Given the description of an element on the screen output the (x, y) to click on. 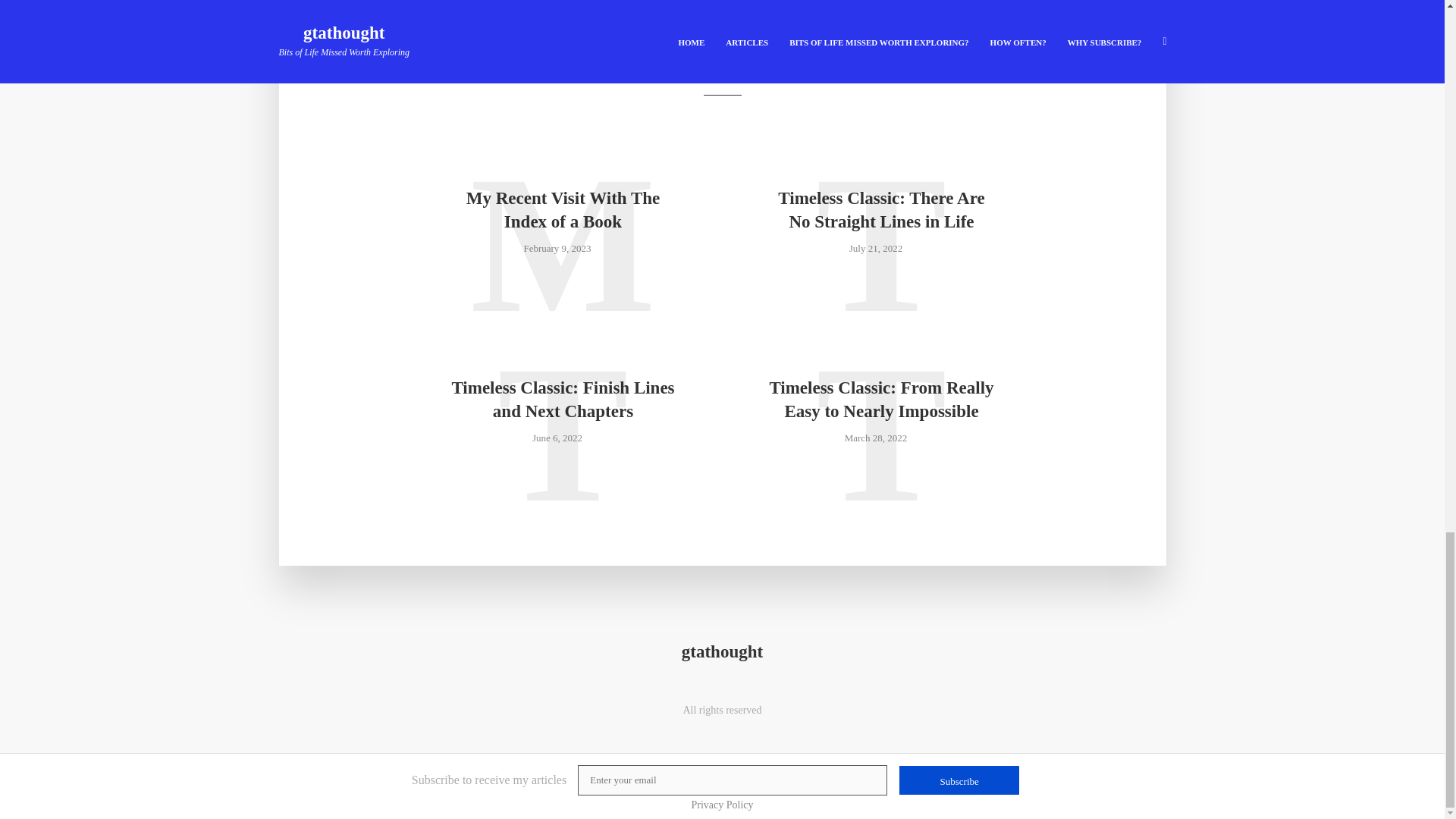
Timeless Classic: There Are No Straight Lines in Life (880, 209)
Timeless Classic: From Really Easy to Nearly Impossible (880, 399)
Timeless Classic: Finish Lines and Next Chapters (562, 399)
My Recent Visit With The Index of a Book (562, 209)
